Given the description of an element on the screen output the (x, y) to click on. 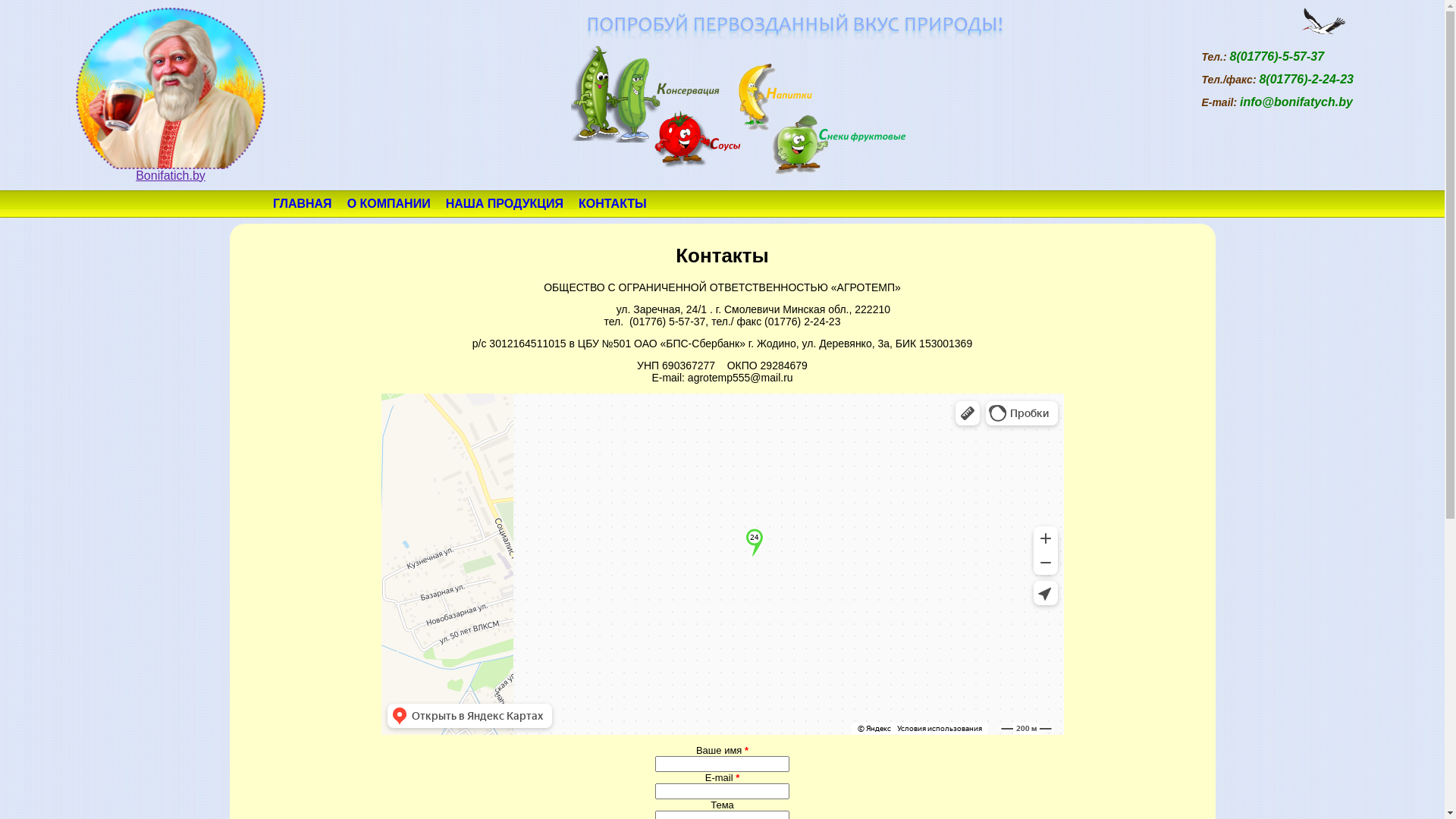
Bonifatich.by Element type: text (170, 169)
